Given the description of an element on the screen output the (x, y) to click on. 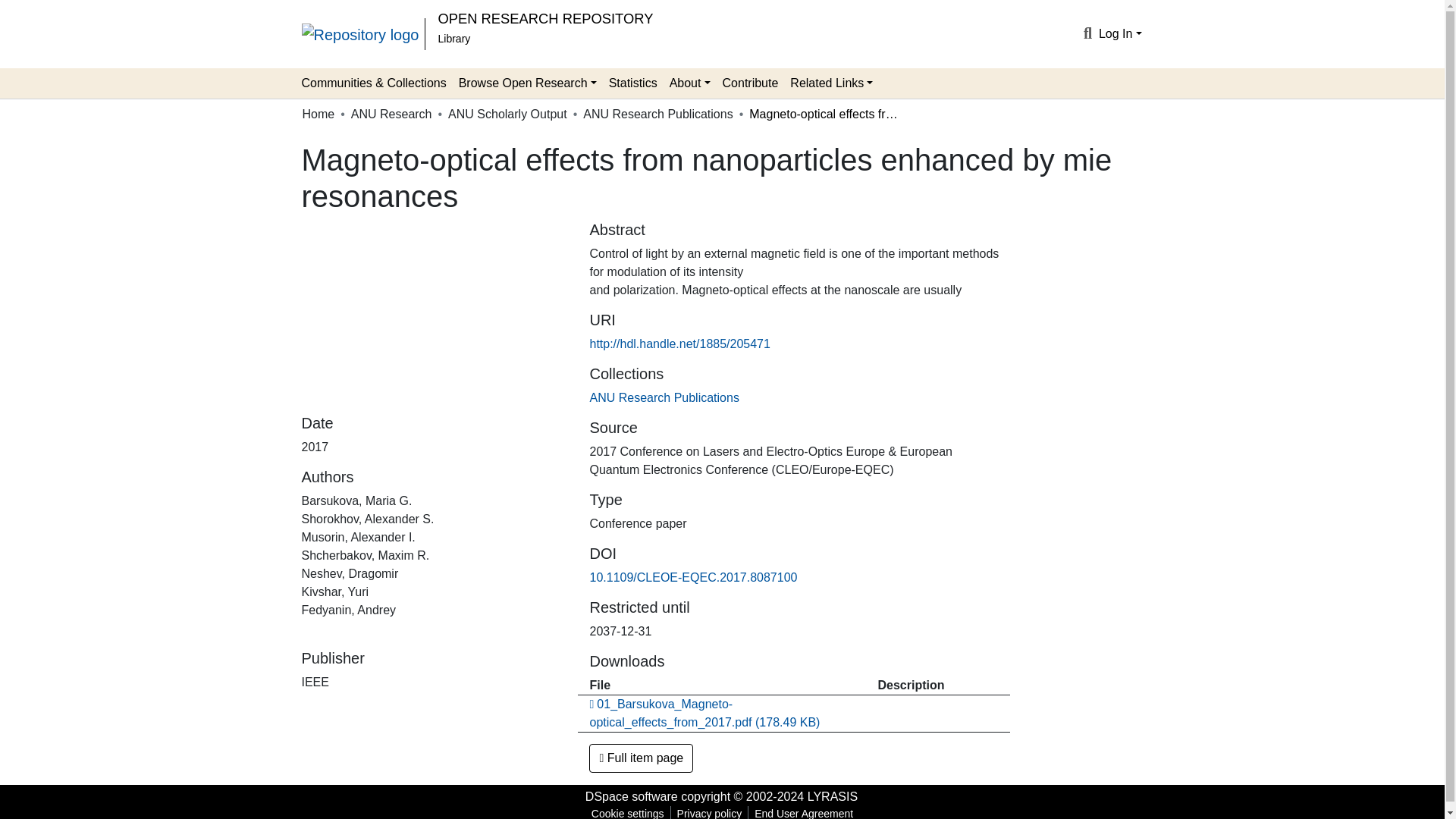
Library (454, 38)
DSpace software (631, 796)
ANU Research Publications (663, 397)
Home (317, 114)
Cookie settings (627, 812)
ANU Scholarly Output (507, 114)
About (689, 82)
Log In (1119, 33)
Contribute (750, 82)
LYRASIS (832, 796)
